Given the description of an element on the screen output the (x, y) to click on. 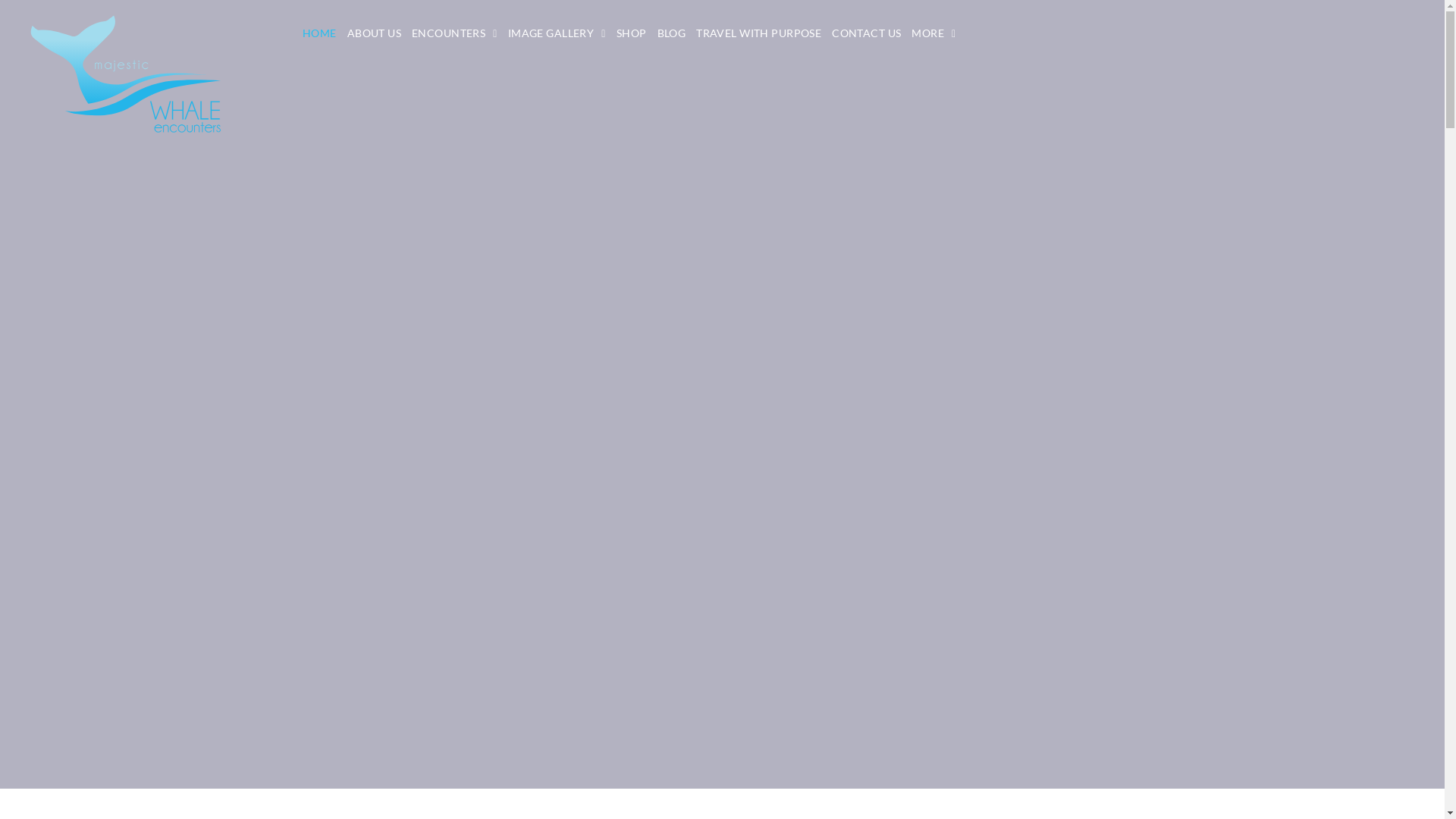
ENCOUNTERS Element type: text (454, 32)
IMAGE GALLERY Element type: text (556, 32)
BLOG Element type: text (671, 32)
MORE Element type: text (933, 32)
majestic whale encounters Element type: hover (125, 74)
TRAVEL WITH PURPOSE Element type: text (758, 32)
CONTACT US Element type: text (866, 32)
SHOP Element type: text (631, 32)
ABOUT US Element type: text (374, 32)
HOME Element type: text (319, 32)
